Given the description of an element on the screen output the (x, y) to click on. 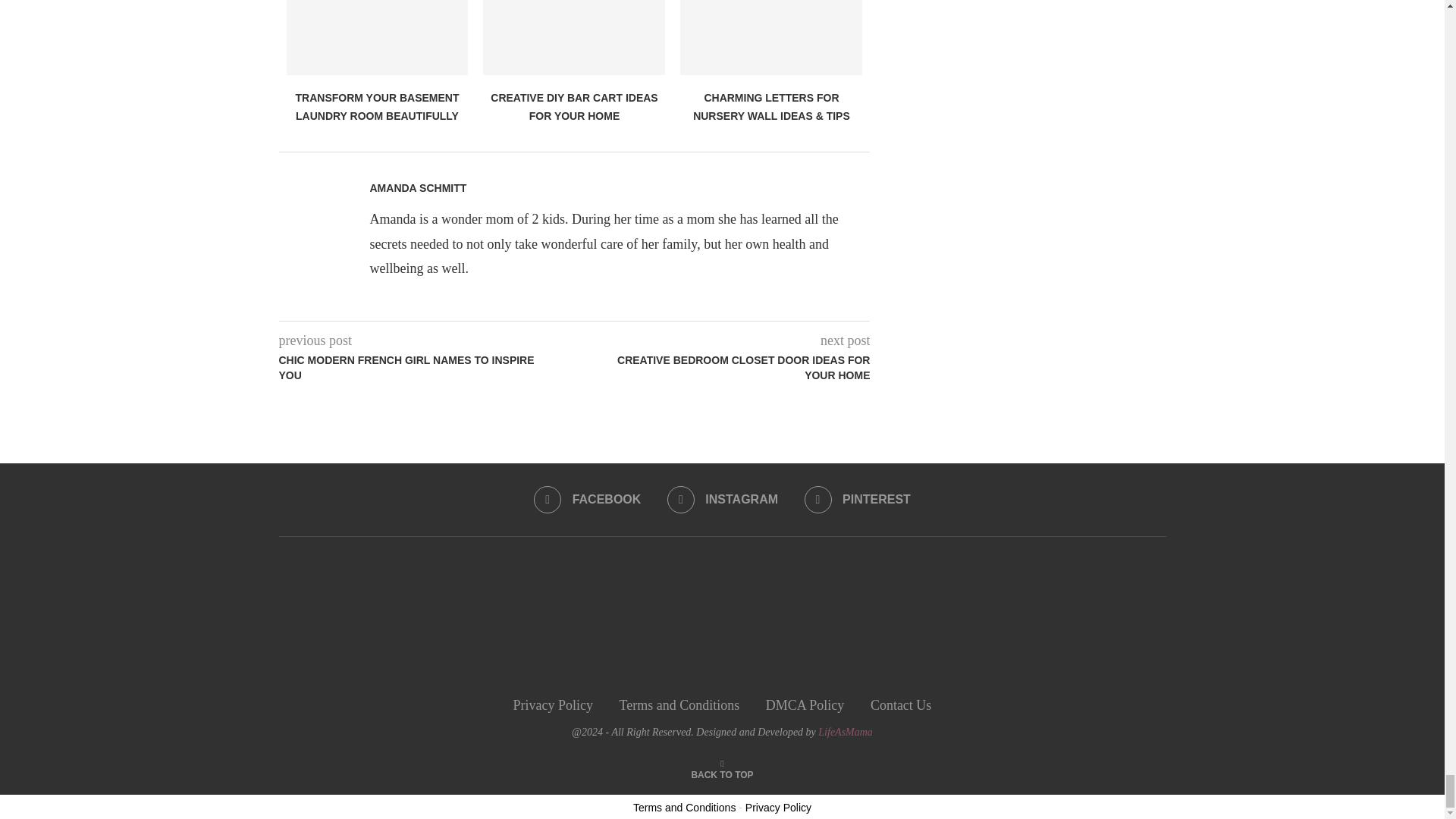
Transform Your Basement Laundry Room Beautifully (377, 37)
Author Amanda Schmitt (418, 187)
Creative DIY Bar Cart Ideas for Your Home (574, 37)
